Given the description of an element on the screen output the (x, y) to click on. 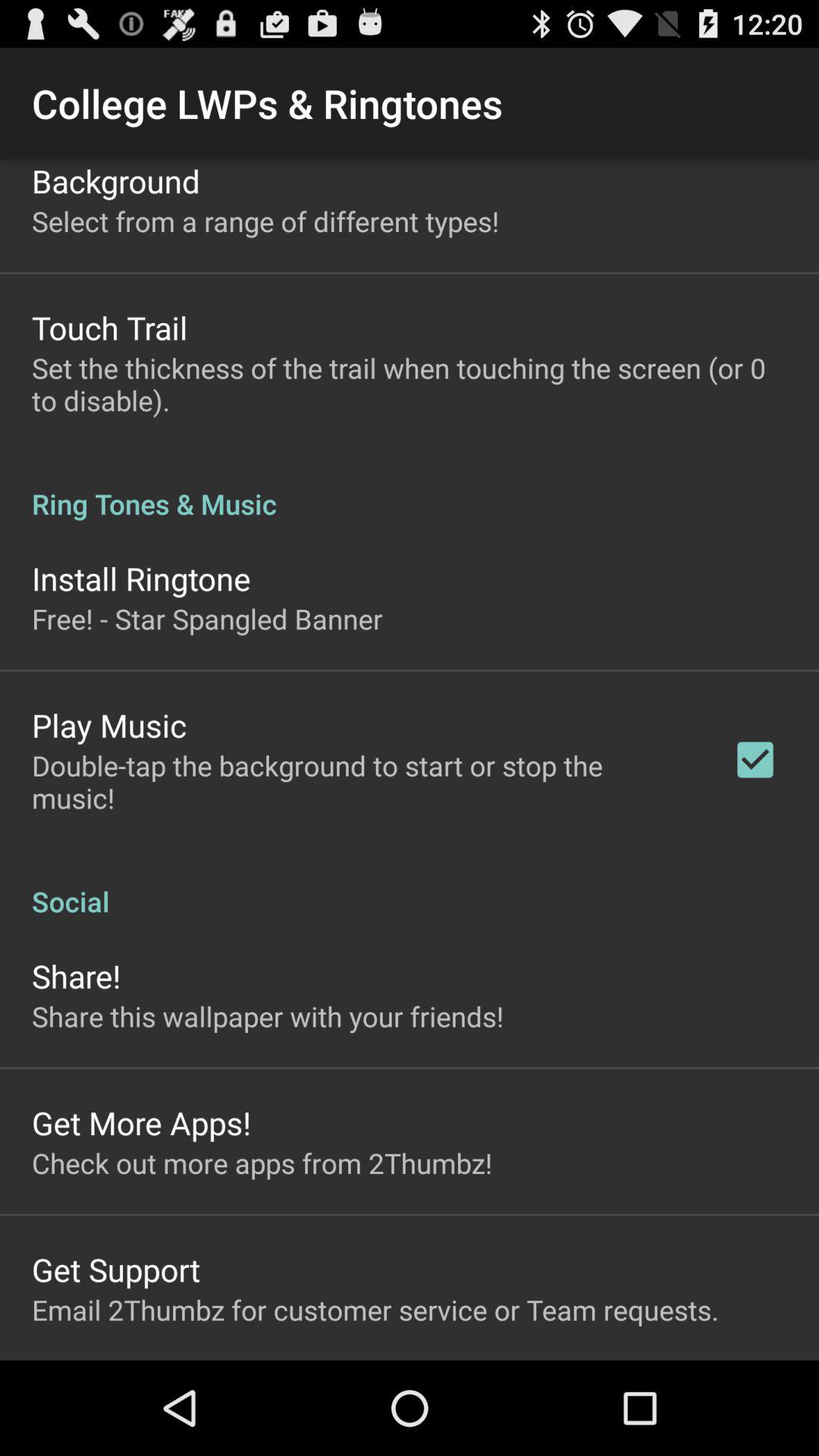
jump to install ringtone (140, 578)
